Given the description of an element on the screen output the (x, y) to click on. 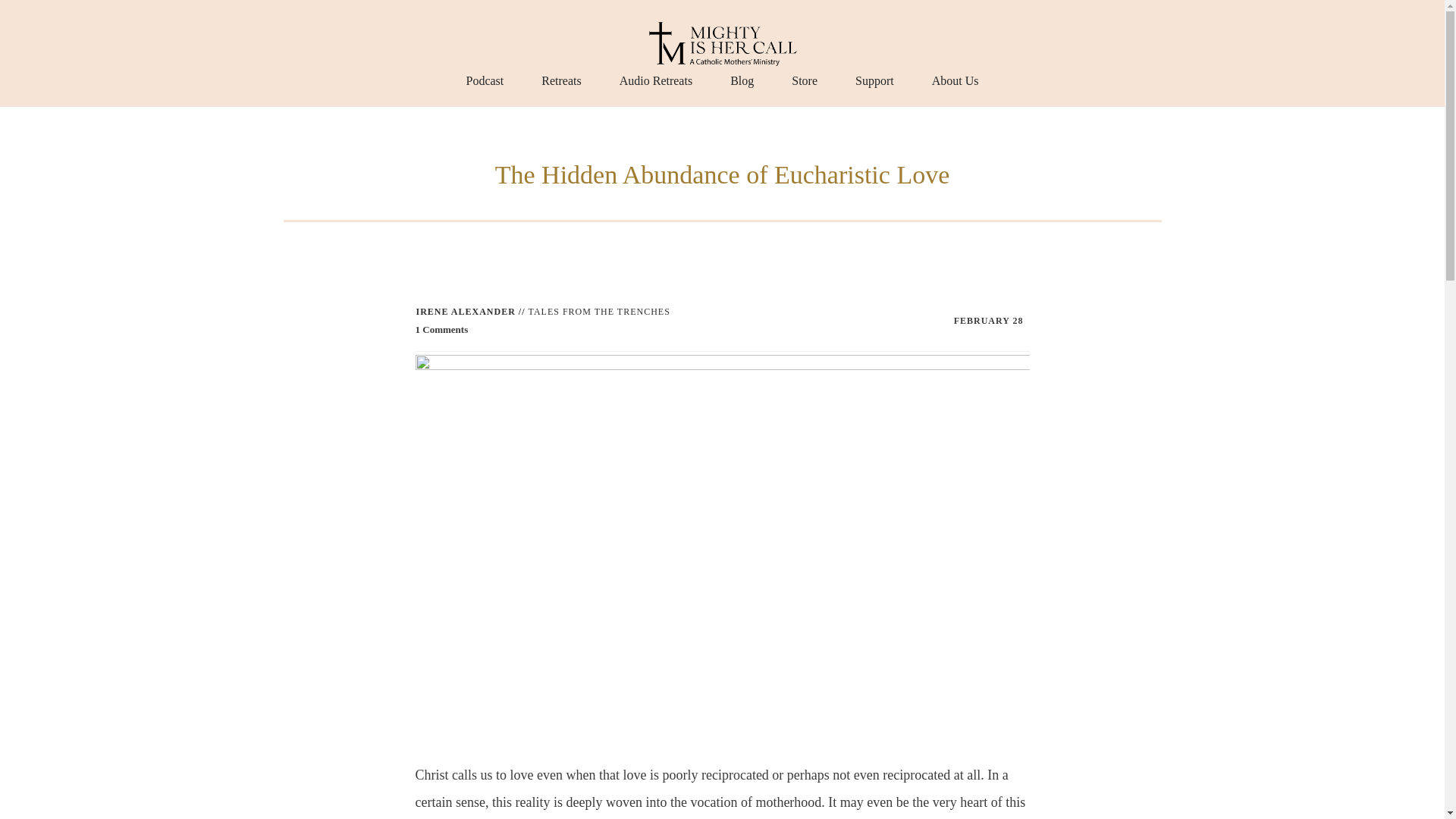
Tales From the Trenches (598, 311)
About Us (954, 80)
Store (804, 80)
Audio Retreats (656, 80)
Retreats (560, 80)
Podcast (484, 80)
TALES FROM THE TRENCHES (598, 311)
Blog (742, 80)
Support (874, 80)
